Given the description of an element on the screen output the (x, y) to click on. 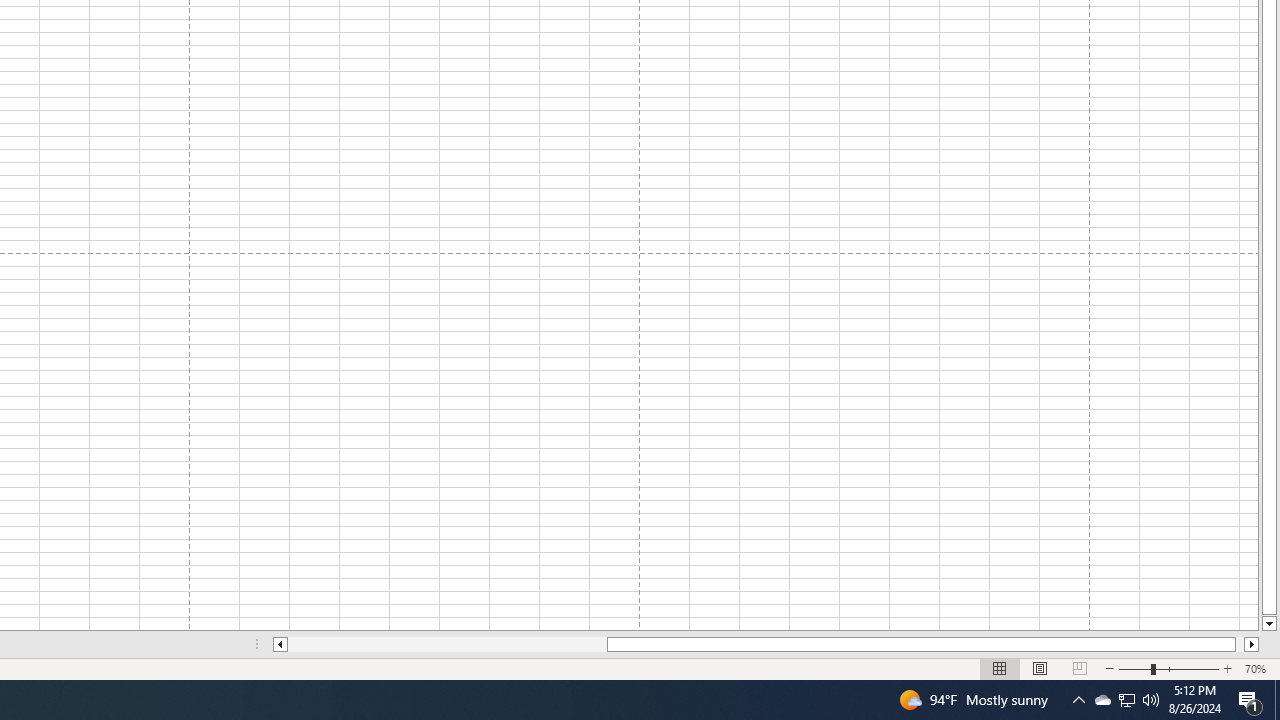
Page left (447, 644)
